Given the description of an element on the screen output the (x, y) to click on. 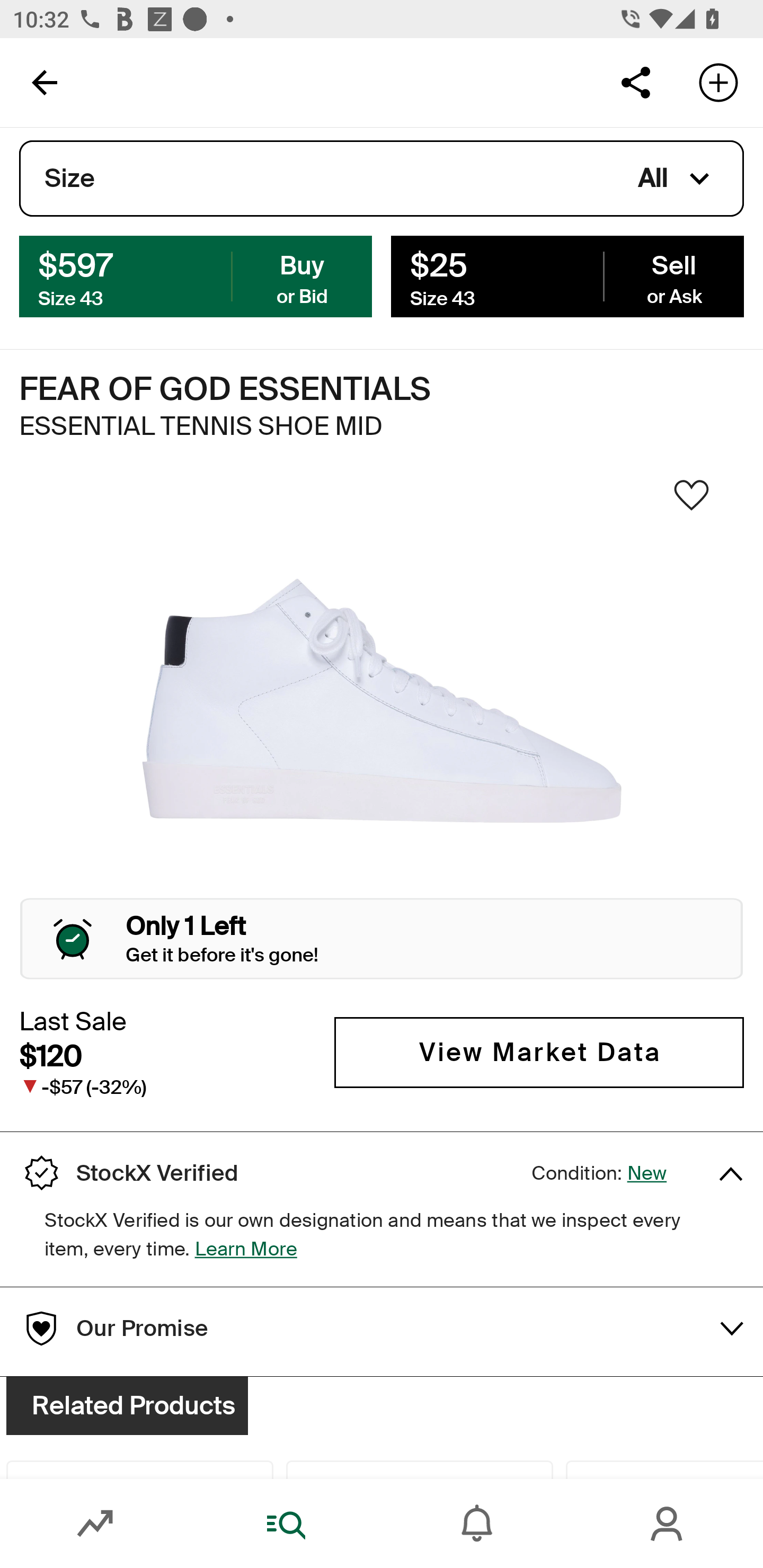
Share (635, 81)
Size All (381, 178)
$597 Buy Size 43 or Bid (195, 275)
$25 Sell Size 43 or Ask (566, 275)
Sneaker Image (381, 699)
View Market Data (538, 1052)
Market (95, 1523)
Inbox (476, 1523)
Account (667, 1523)
